Given the description of an element on the screen output the (x, y) to click on. 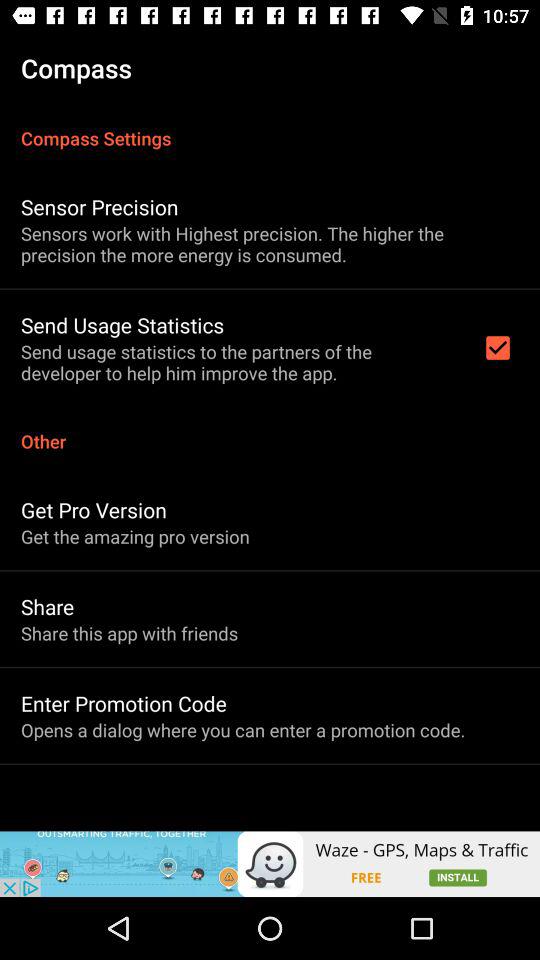
swipe until the other item (270, 430)
